Given the description of an element on the screen output the (x, y) to click on. 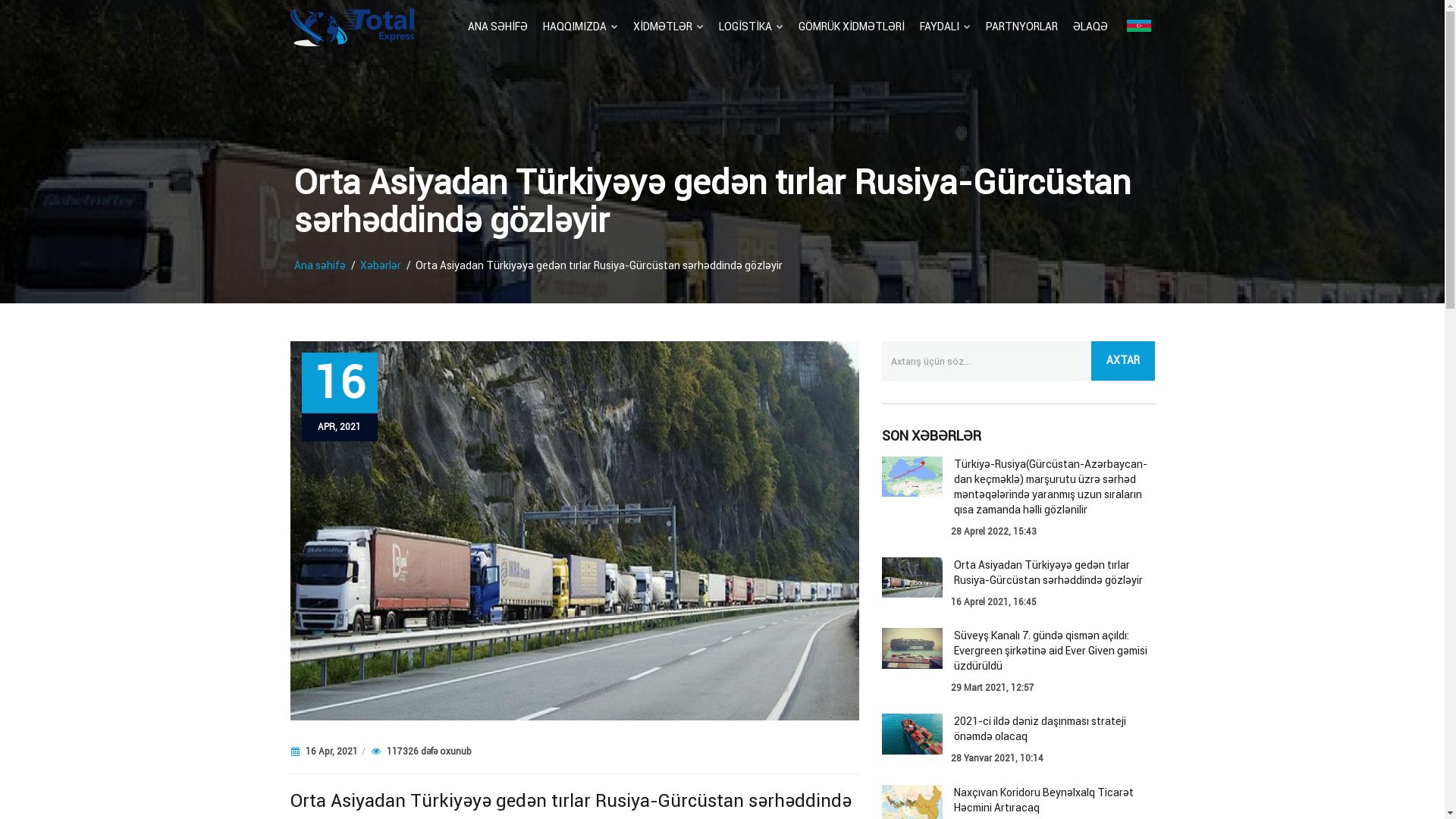
PARTNYORLAR Element type: text (1021, 26)
AXTAR Element type: text (1122, 360)
totalex.az Element type: hover (351, 27)
HAQQIMIZDA Element type: text (580, 26)
LOGISTIKA Element type: text (750, 26)
FAYDALI Element type: text (944, 26)
